Given the description of an element on the screen output the (x, y) to click on. 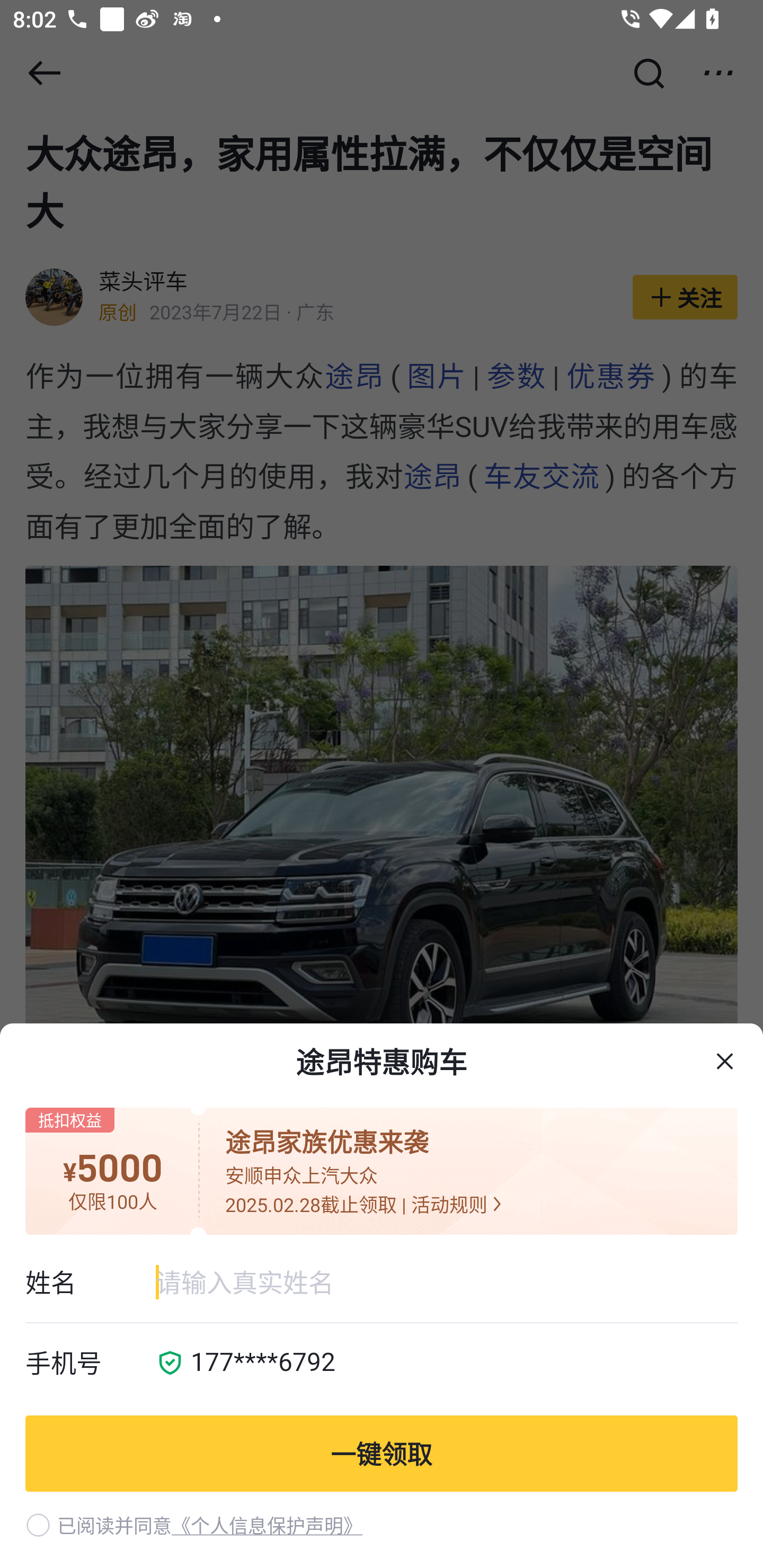
 (724, 1061)
 |  活动规则  (451, 1203)
姓名 (90, 1282)
请输入真实姓名 (446, 1282)
手机号 (90, 1363)
177****6792 (457, 1363)
一键领取 (381, 1453)
